Given the description of an element on the screen output the (x, y) to click on. 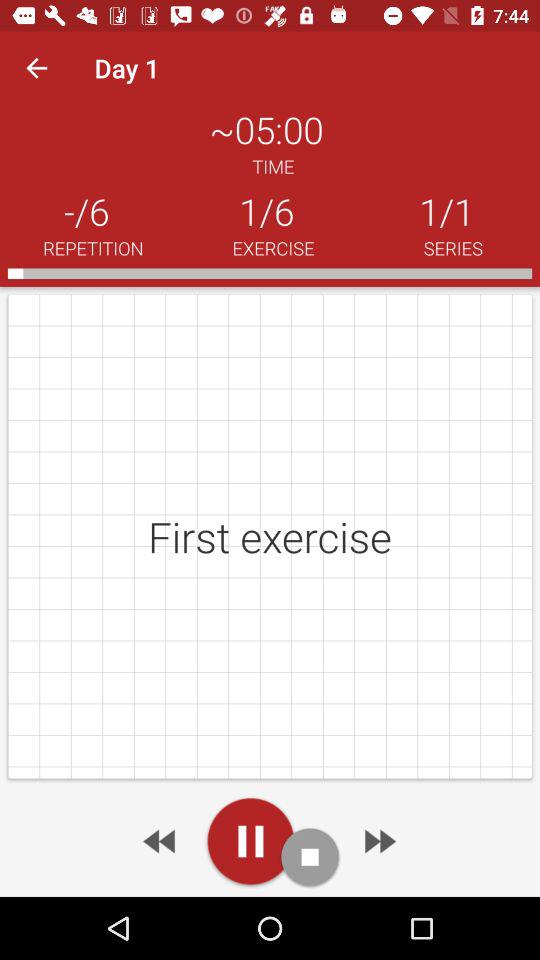
stop audio (309, 856)
